Given the description of an element on the screen output the (x, y) to click on. 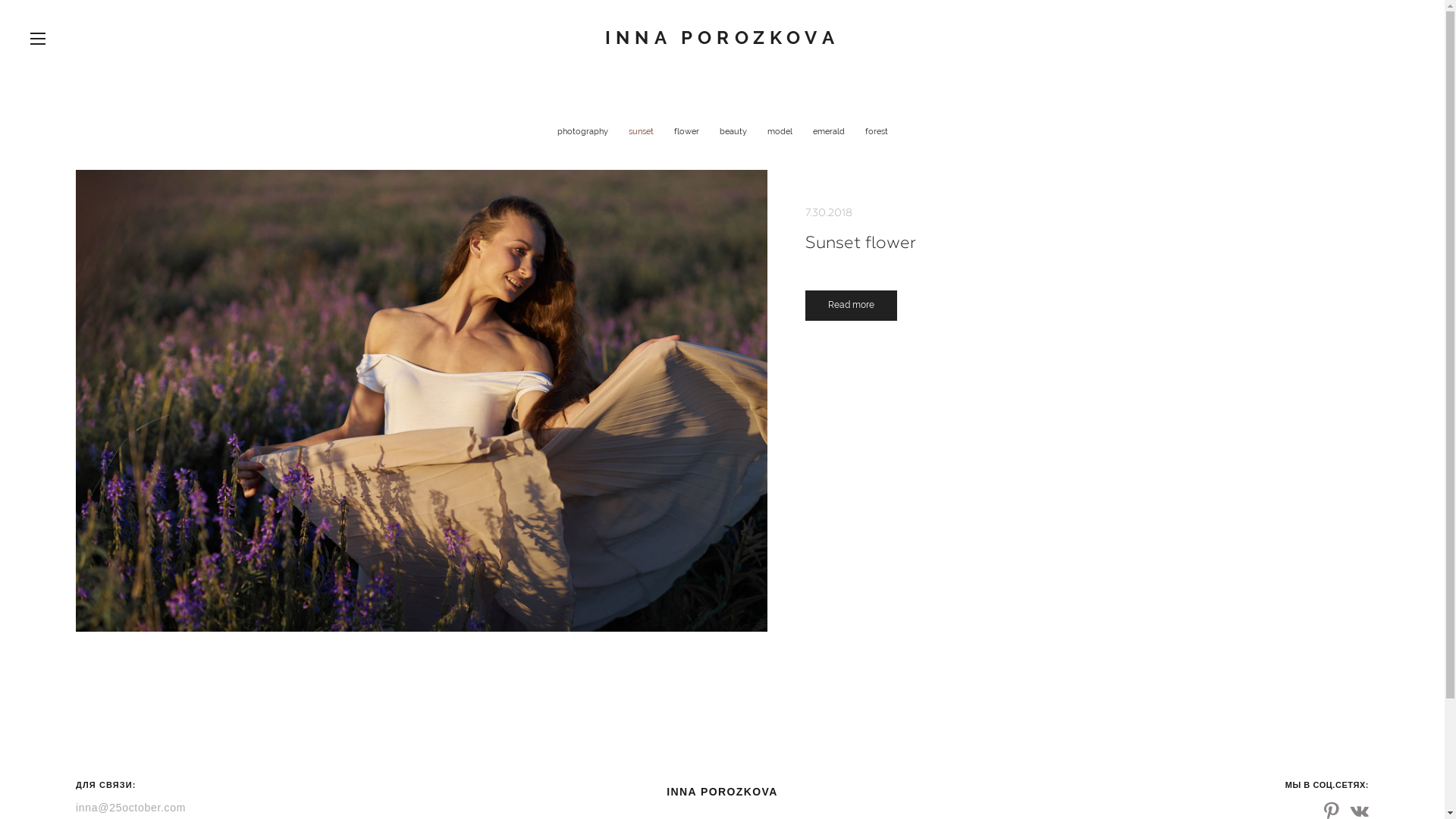
forest Element type: text (875, 131)
sunset Element type: text (641, 131)
emerald Element type: text (829, 131)
Sunset flower Element type: text (1086, 242)
model Element type: text (780, 131)
Read more Element type: text (851, 305)
photography Element type: text (582, 131)
beauty Element type: text (733, 131)
flower Element type: text (686, 131)
INNA POROZKOVA Element type: text (722, 37)
